Given the description of an element on the screen output the (x, y) to click on. 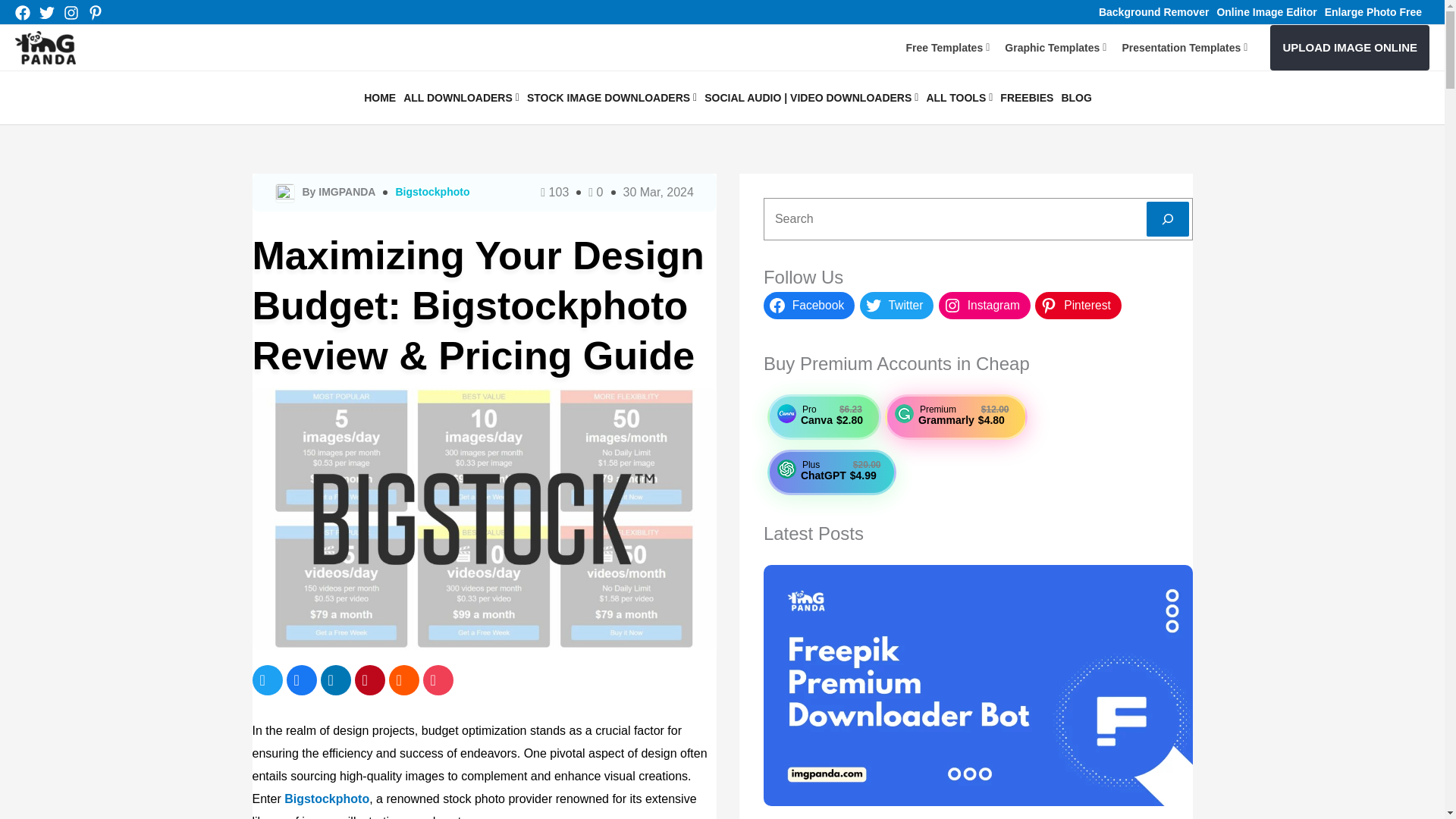
Free Templates (947, 47)
Online Image Editor (1265, 11)
Graphic Templates (1055, 47)
Background Remover (1153, 11)
Enlarge Photo Free (1373, 11)
Presentation Templates (1184, 47)
UPLOAD IMAGE ONLINE (1349, 47)
